Given the description of an element on the screen output the (x, y) to click on. 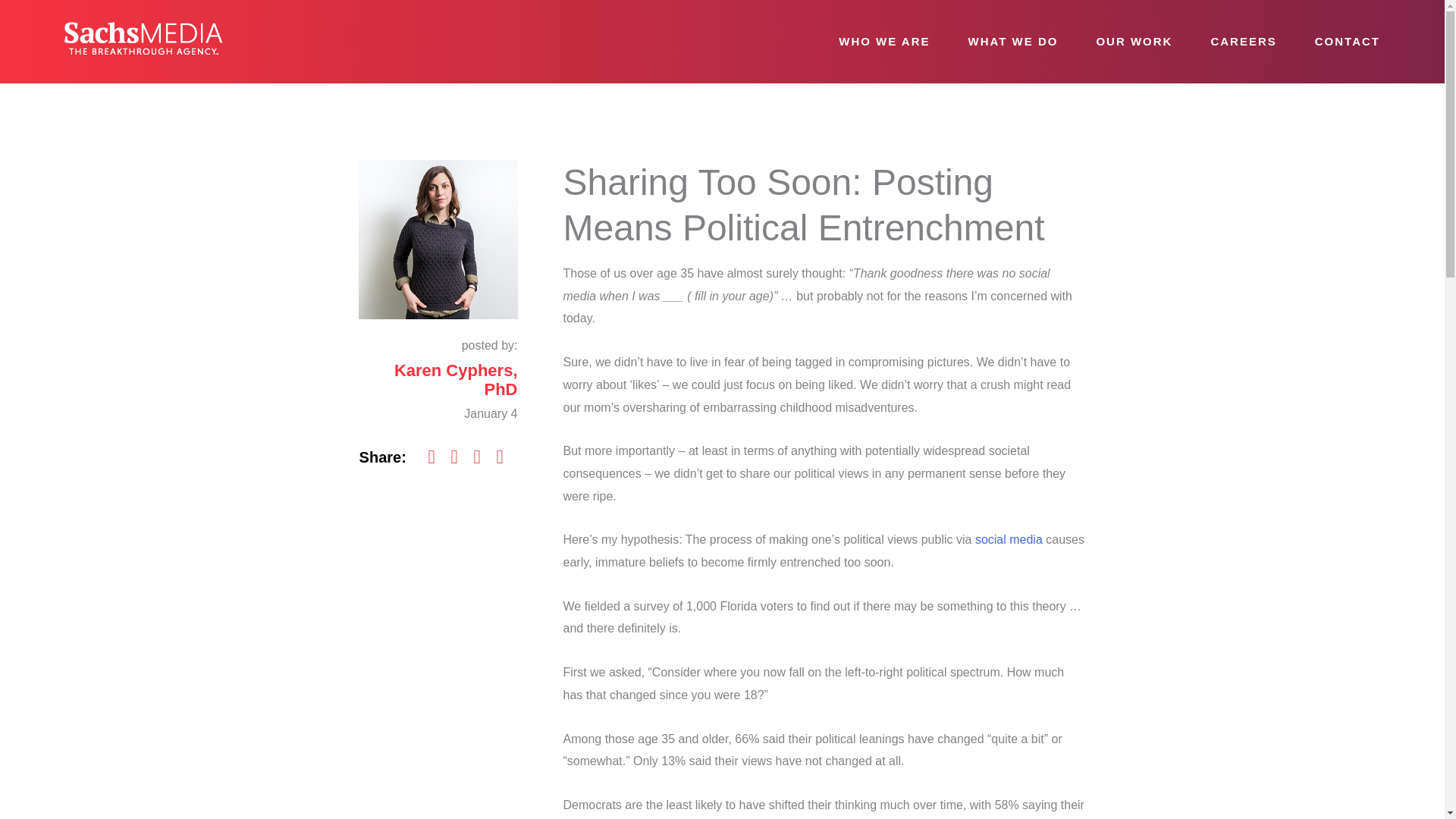
Karen-Cyphers (437, 239)
CAREERS (1243, 41)
CONTACT (1347, 41)
WHAT WE DO (1013, 41)
WHO WE ARE (884, 41)
social media (1008, 539)
OUR WORK (1134, 41)
